Given the description of an element on the screen output the (x, y) to click on. 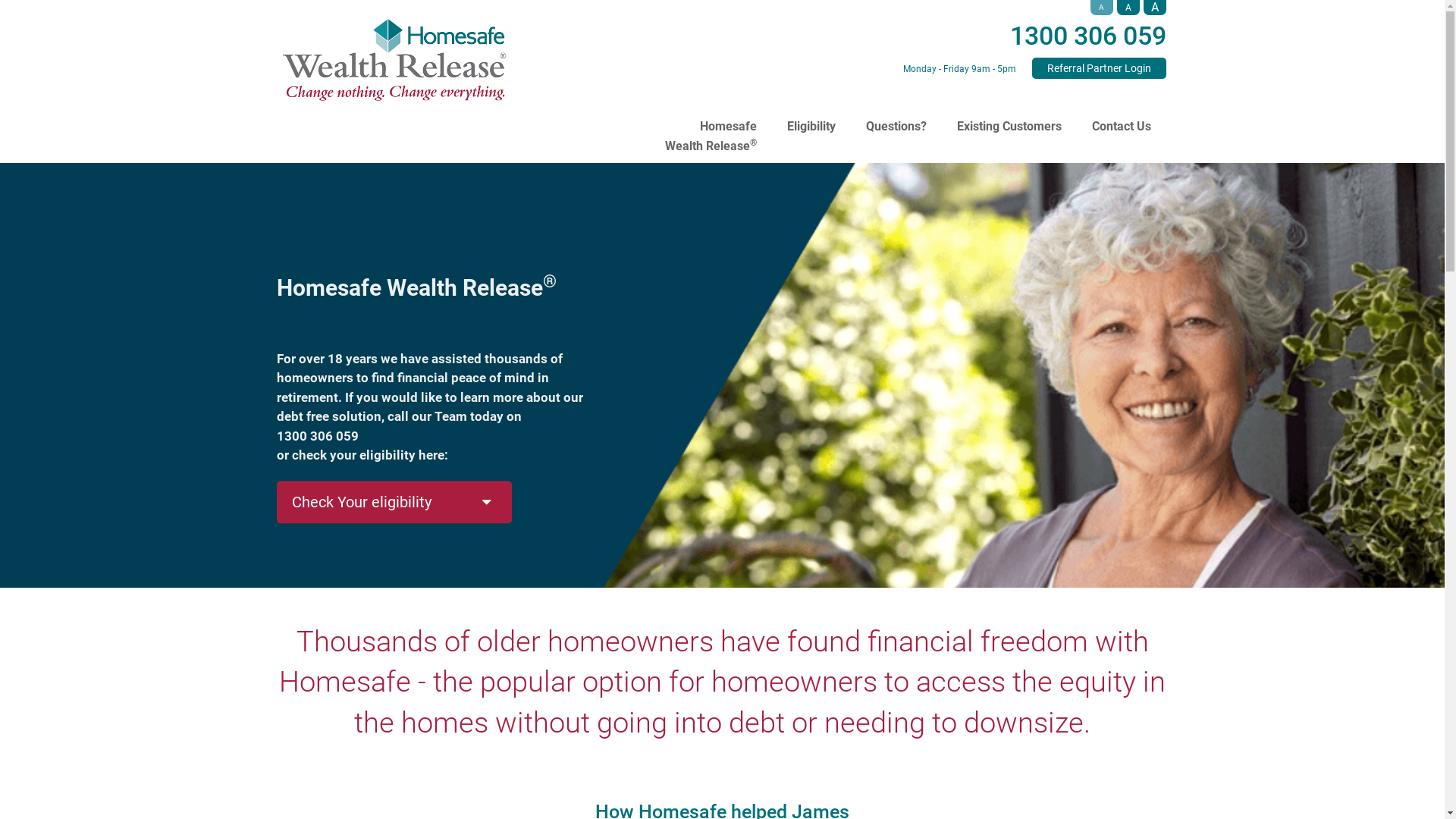
Referral Partner Login Element type: text (1098, 67)
A Element type: text (1154, 7)
Contact Us Element type: text (1121, 115)
Existing Customers Element type: text (1008, 115)
A Element type: text (1127, 7)
A Element type: text (1101, 7)
1300 306 059 Element type: text (1088, 35)
Questions? Element type: text (895, 115)
Eligibility Element type: text (810, 115)
